Given the description of an element on the screen output the (x, y) to click on. 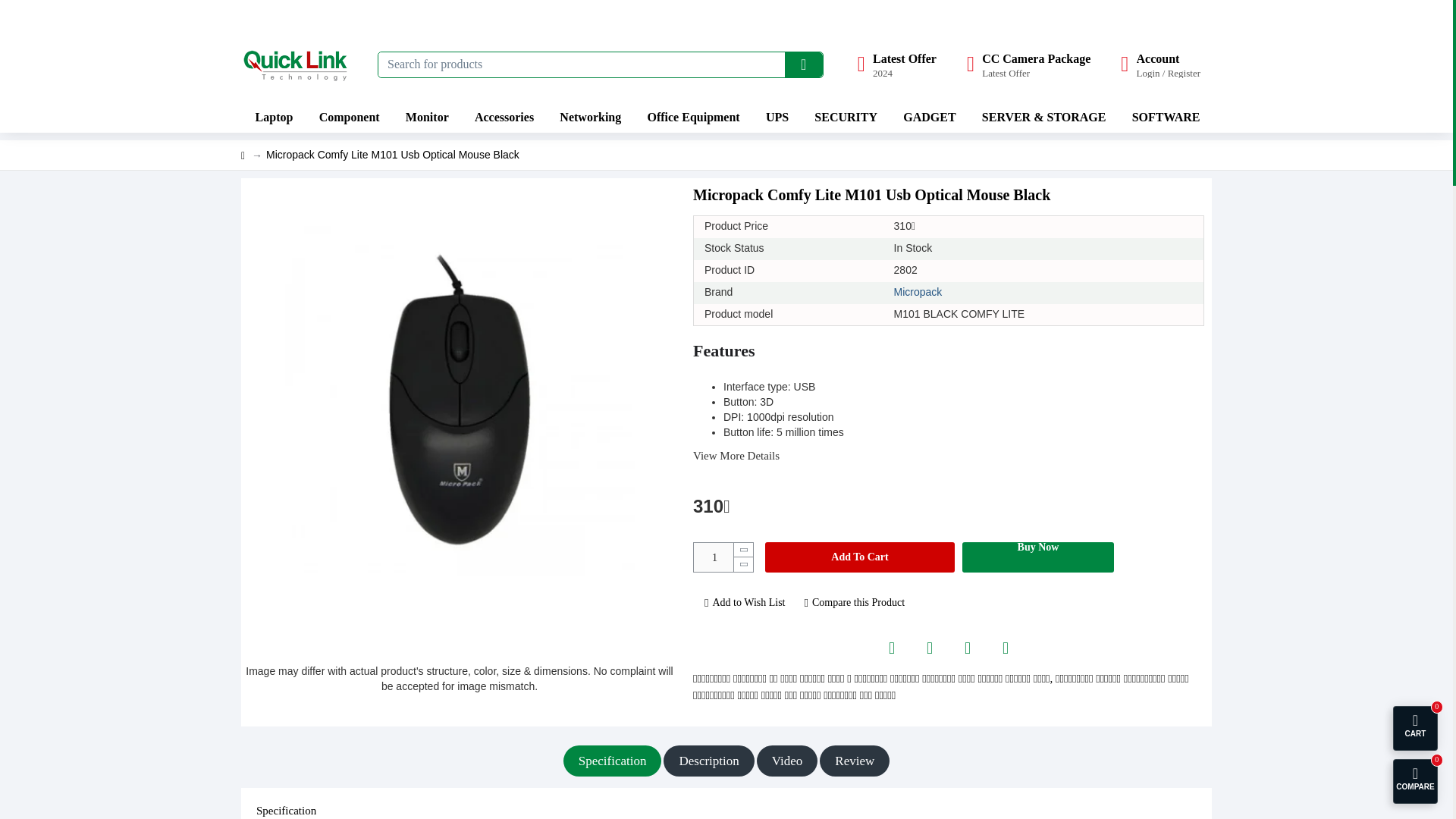
Monitor (425, 117)
QuickLink BD (1028, 64)
Search-title (298, 63)
MICROPACK M101 BLACK COMFY LITE Mouse (803, 63)
Component (272, 117)
1 (347, 117)
